Given the description of an element on the screen output the (x, y) to click on. 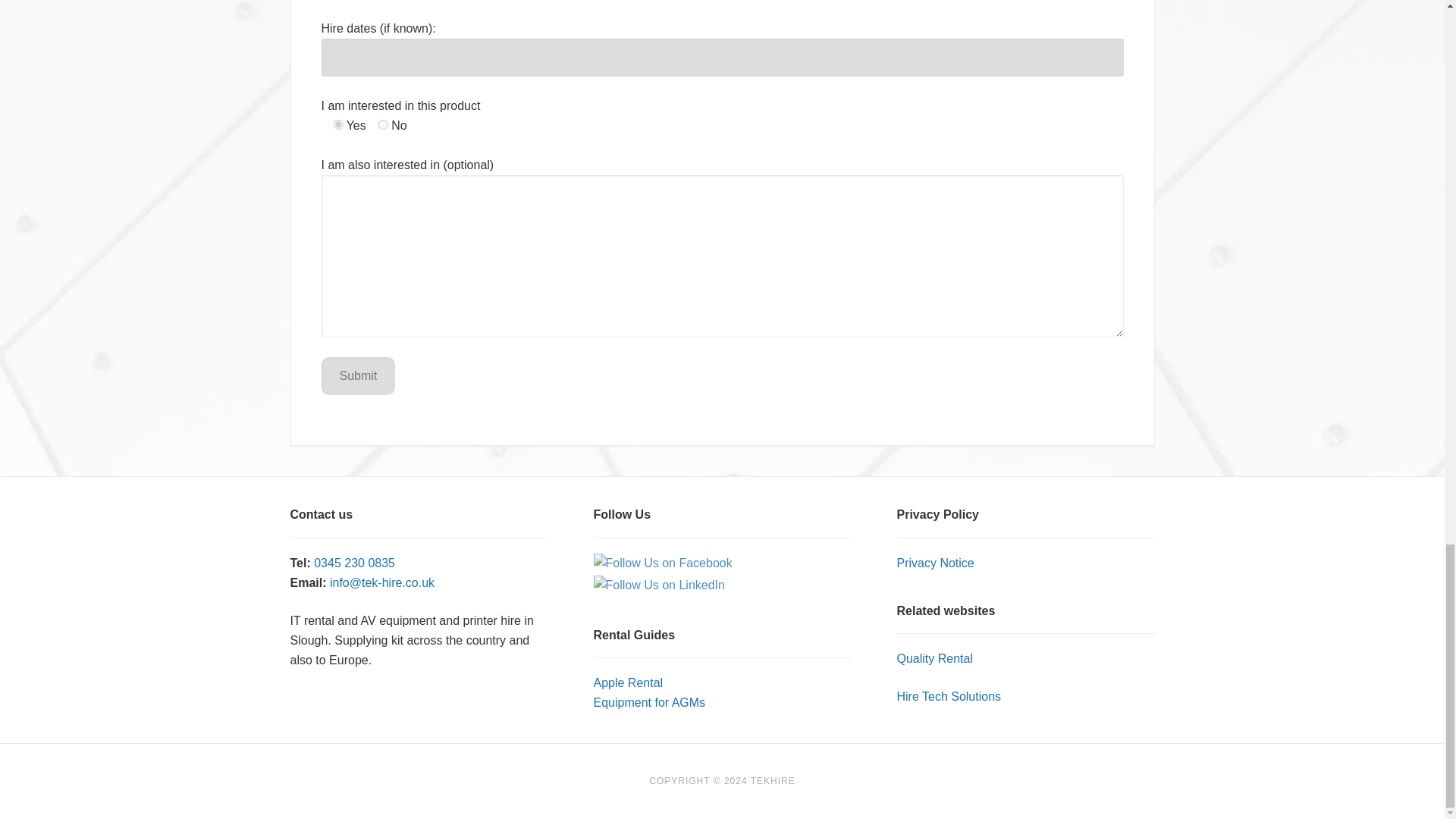
Equipment for AGMs (648, 702)
Follow Us on LinkedIn (657, 585)
Submit (358, 375)
Follow Us on Facebook (662, 563)
Yes (338, 124)
No (383, 124)
Privacy Notice (935, 562)
0345 230 0835 (354, 562)
Apple Rental (627, 682)
Quality Rental (934, 658)
Submit (358, 375)
